Given the description of an element on the screen output the (x, y) to click on. 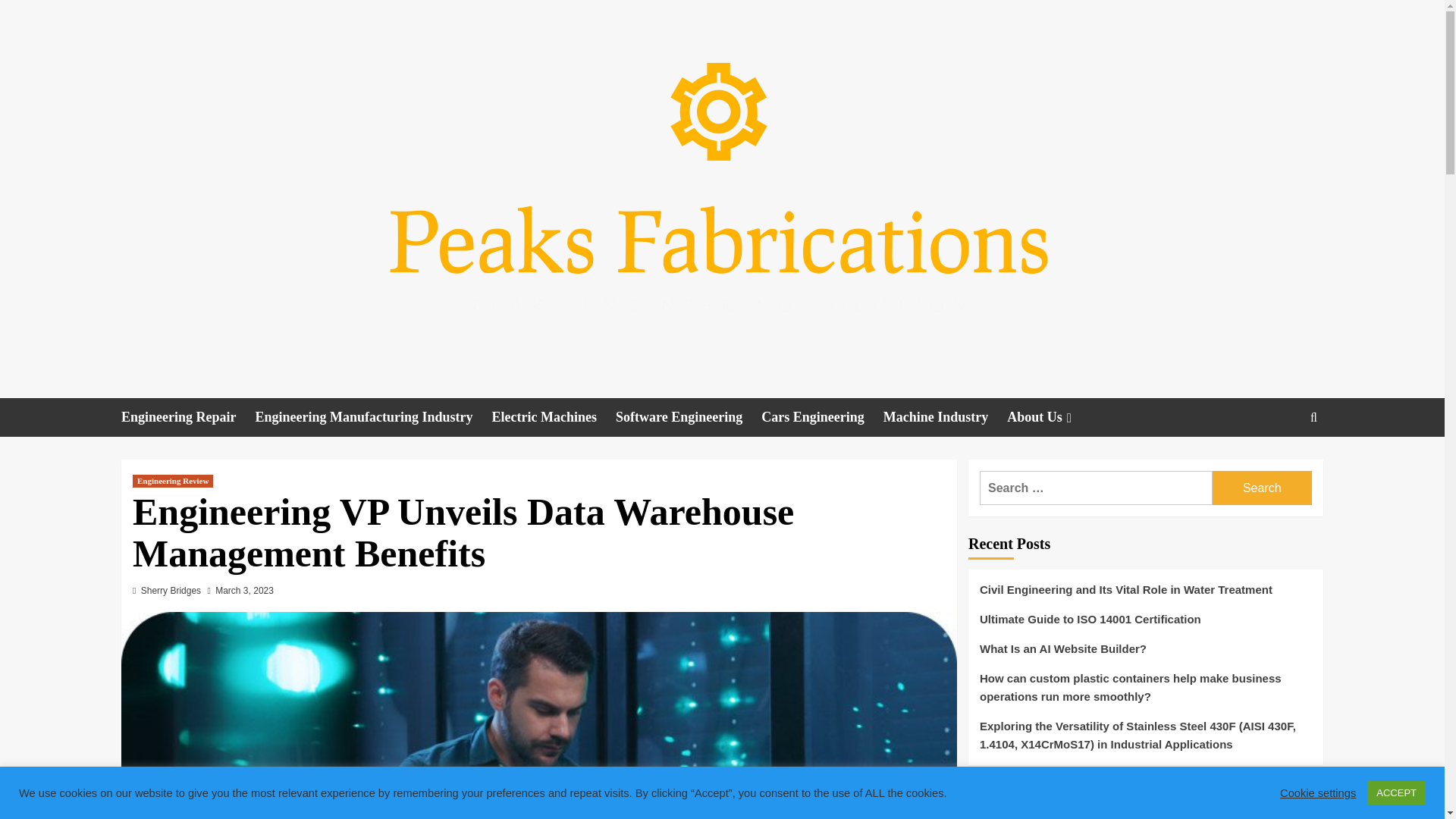
Machine Industry (945, 417)
March 3, 2023 (244, 590)
Search (1261, 487)
Search (1261, 487)
Electric Machines (553, 417)
Engineering Repair (188, 417)
Engineering Manufacturing Industry (373, 417)
About Us (1050, 417)
Search (1278, 464)
